Given the description of an element on the screen output the (x, y) to click on. 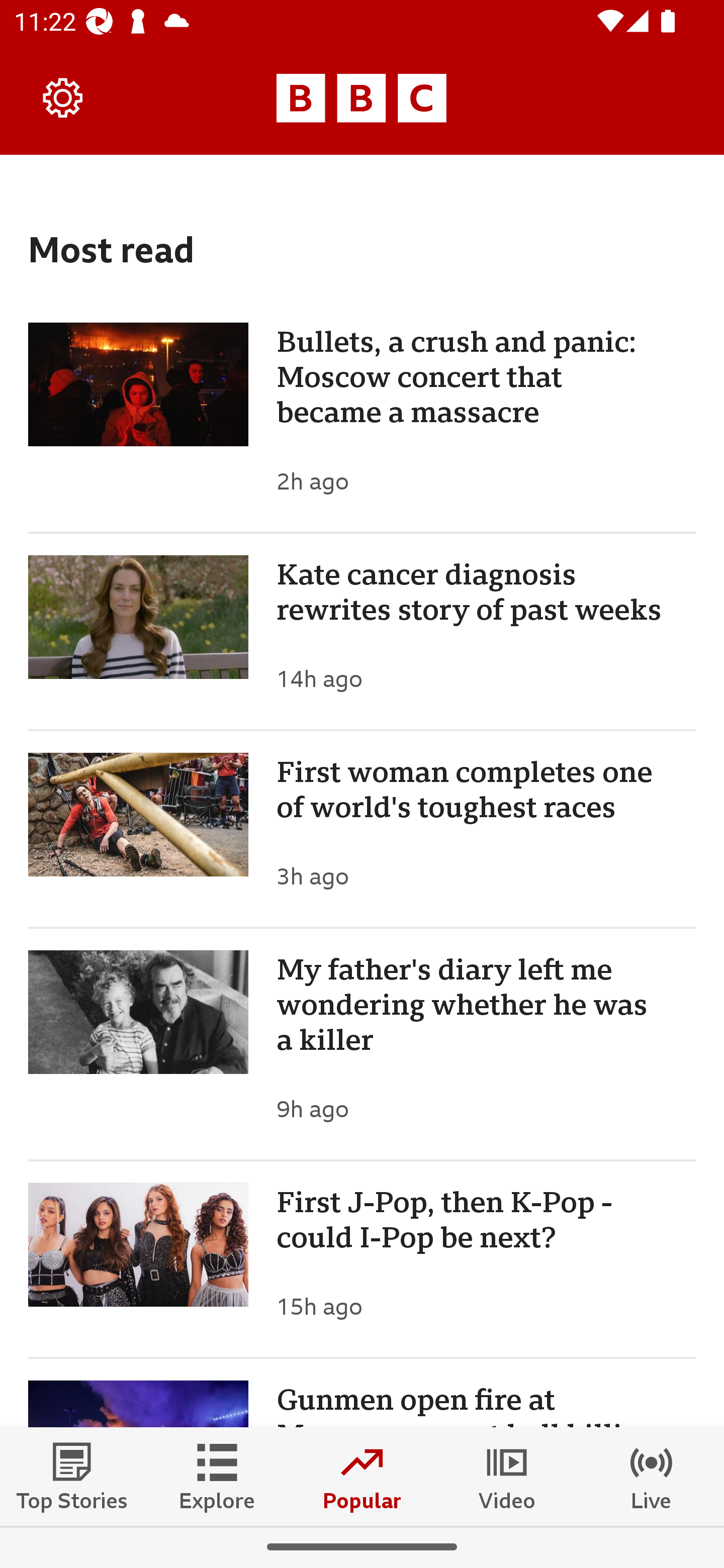
Settings (63, 97)
Top Stories (72, 1475)
Explore (216, 1475)
Video (506, 1475)
Live (651, 1475)
